Given the description of an element on the screen output the (x, y) to click on. 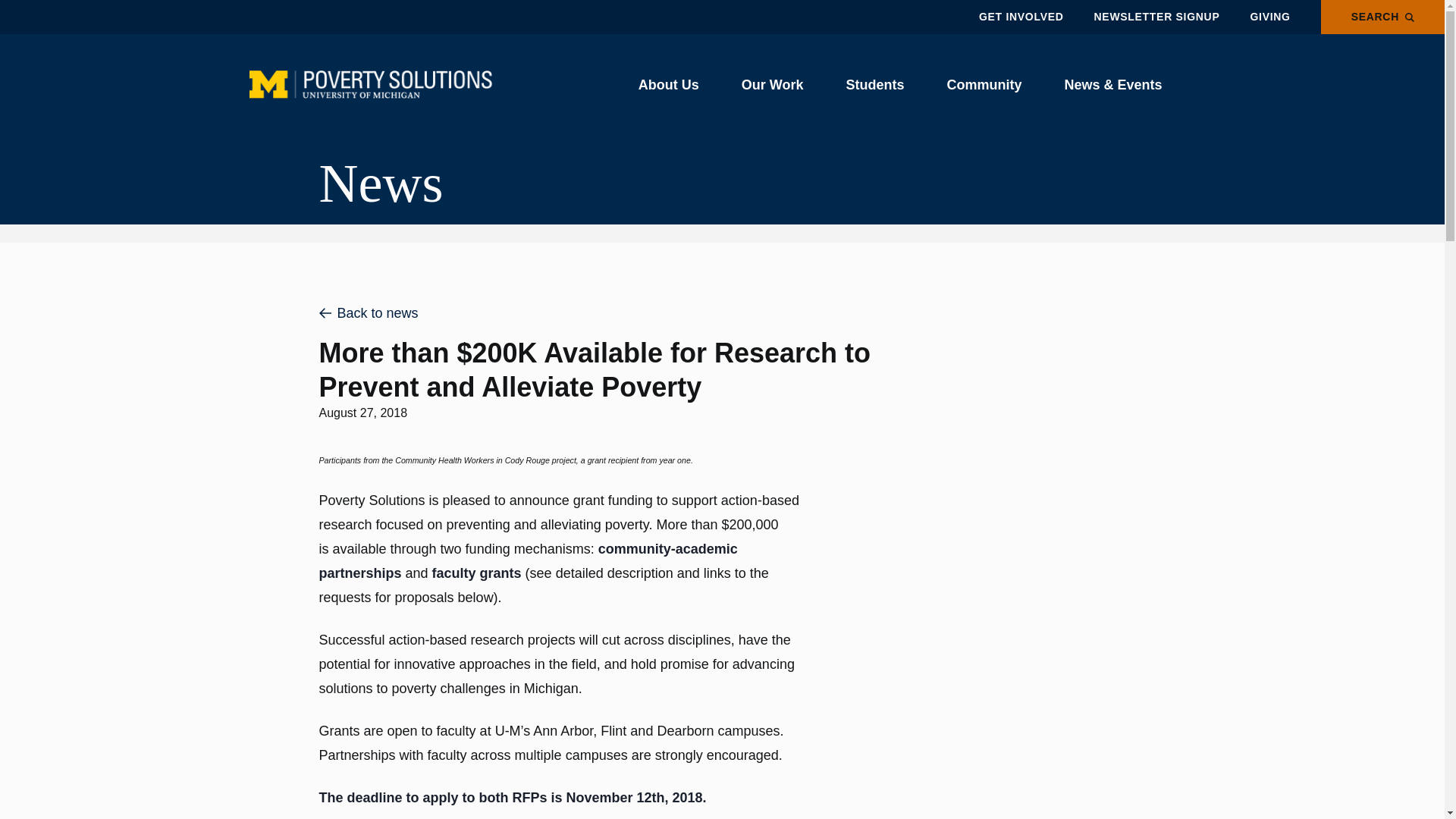
Students (873, 85)
GIVING (1269, 16)
Our Work (772, 85)
GET INVOLVED (1021, 16)
Community (983, 85)
NEWSLETTER SIGNUP (1157, 16)
About Us (667, 85)
